Given the description of an element on the screen output the (x, y) to click on. 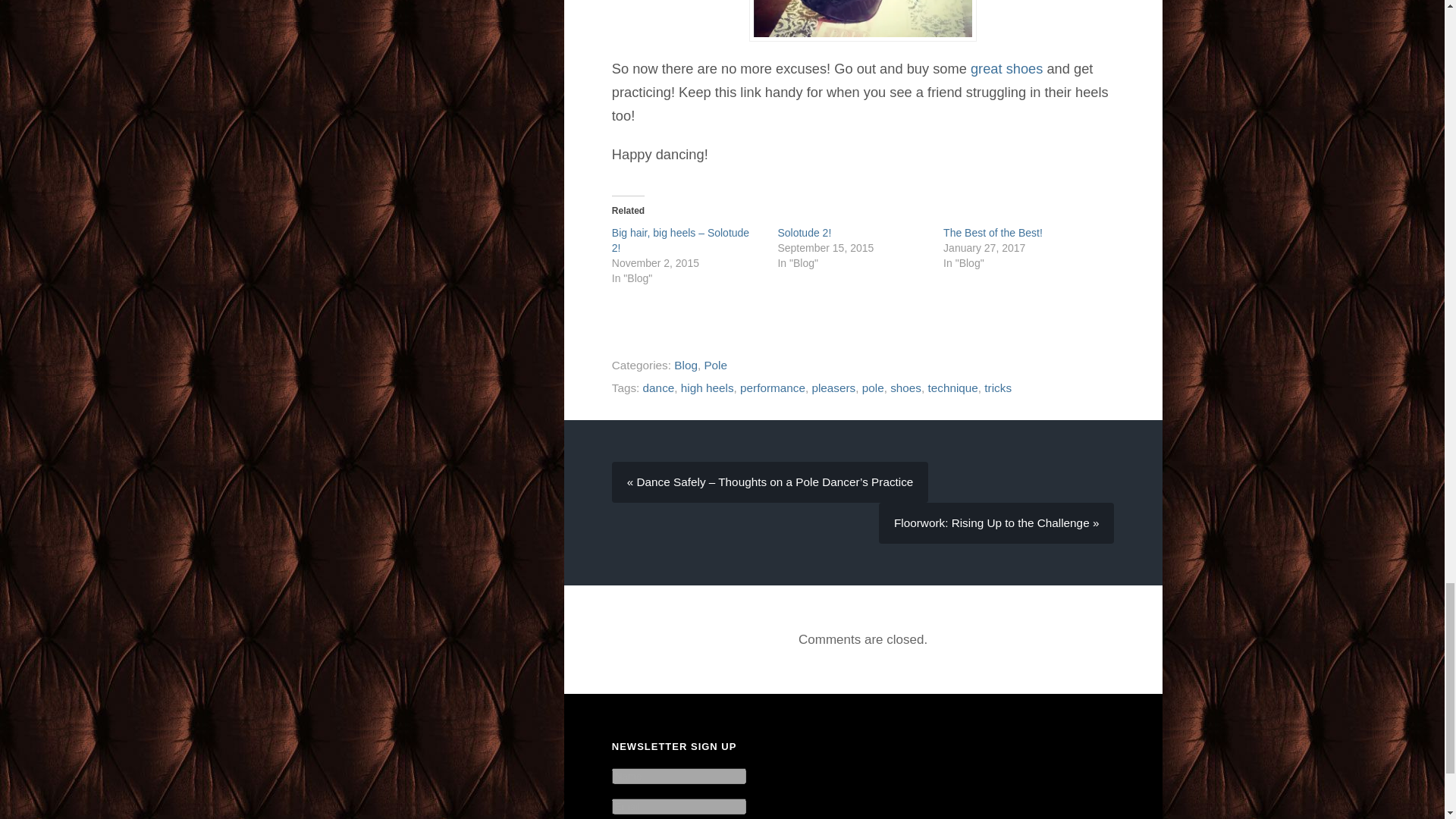
pleasers (833, 387)
great shoes (1006, 68)
performance (772, 387)
Solotude 2! (804, 232)
shoes (905, 387)
The Best of the Best! (992, 232)
pole (872, 387)
technique (953, 387)
Pole (714, 364)
dance (659, 387)
Solotude 2! (804, 232)
tricks (997, 387)
Next post: Floorwork: Rising Up to the Challenge (996, 522)
The Best of the Best! (992, 232)
Blog (685, 364)
